Given the description of an element on the screen output the (x, y) to click on. 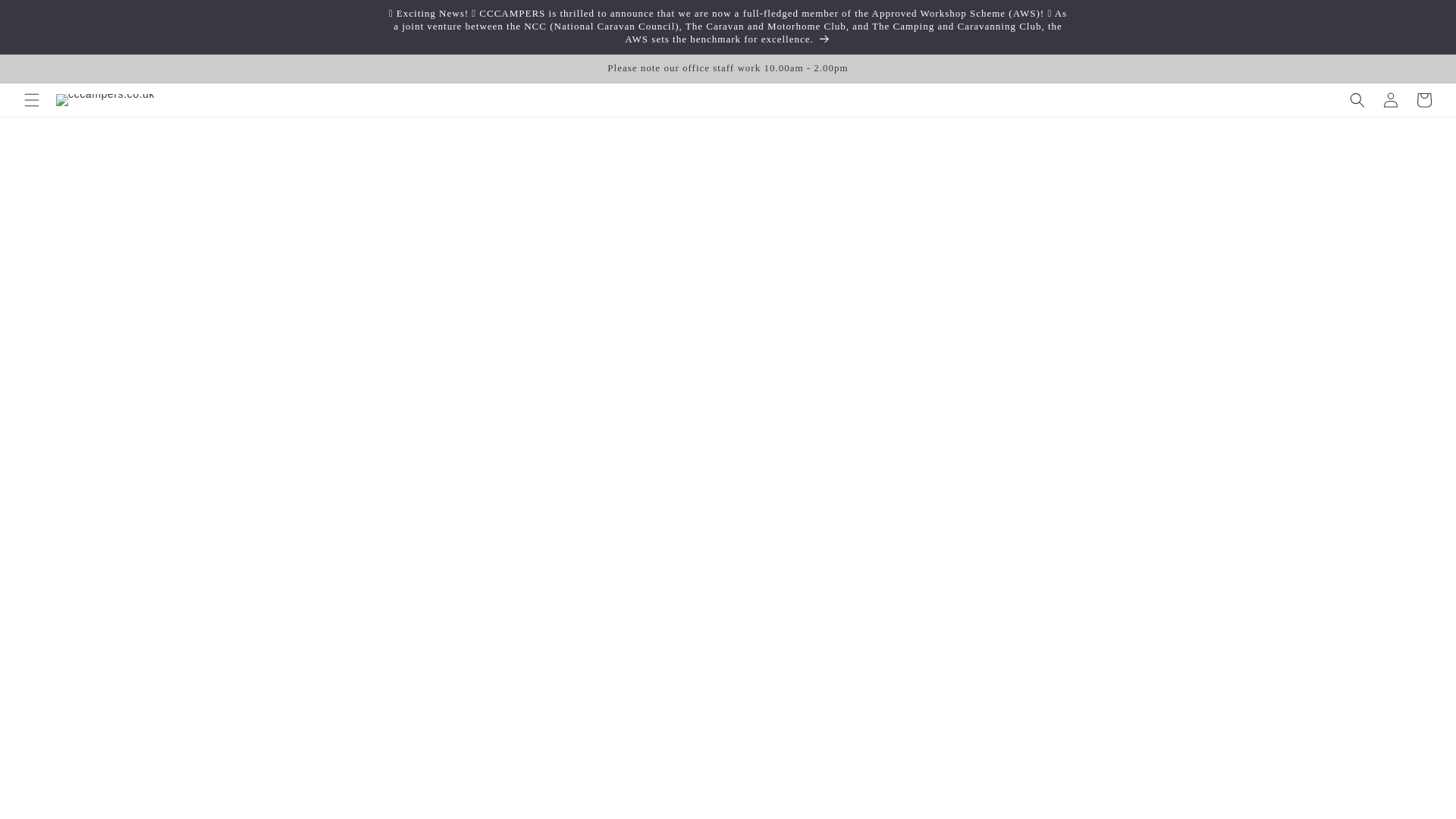
Log in (1390, 100)
Skip to content (47, 18)
Cart (1424, 100)
